Given the description of an element on the screen output the (x, y) to click on. 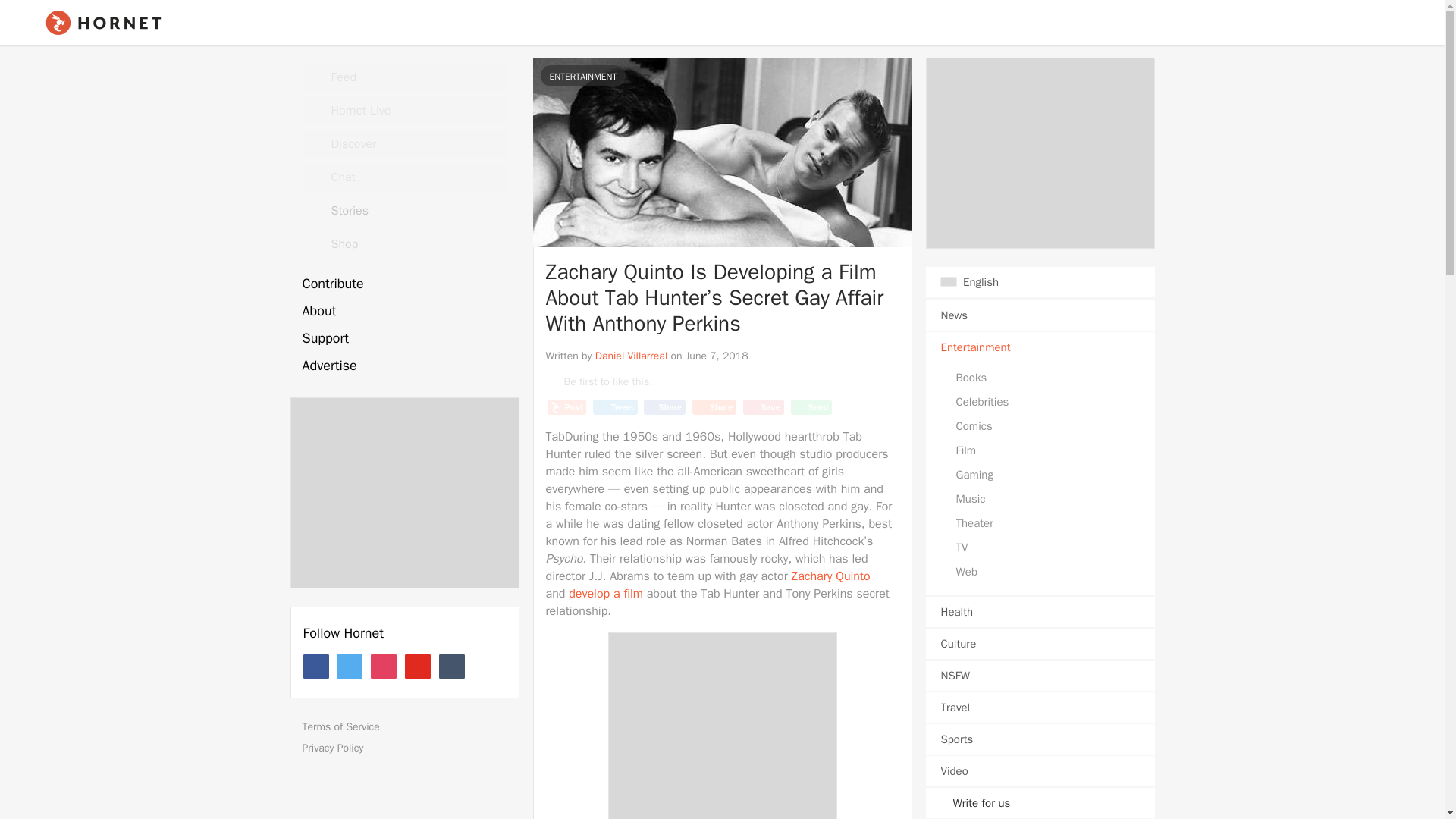
Send (811, 406)
About (403, 310)
Privacy Policy (408, 748)
Support (403, 338)
Discover (403, 144)
Tweet (614, 406)
Support (403, 338)
Feed (403, 76)
ENTERTAINMENT (583, 75)
Save (763, 406)
